Given the description of an element on the screen output the (x, y) to click on. 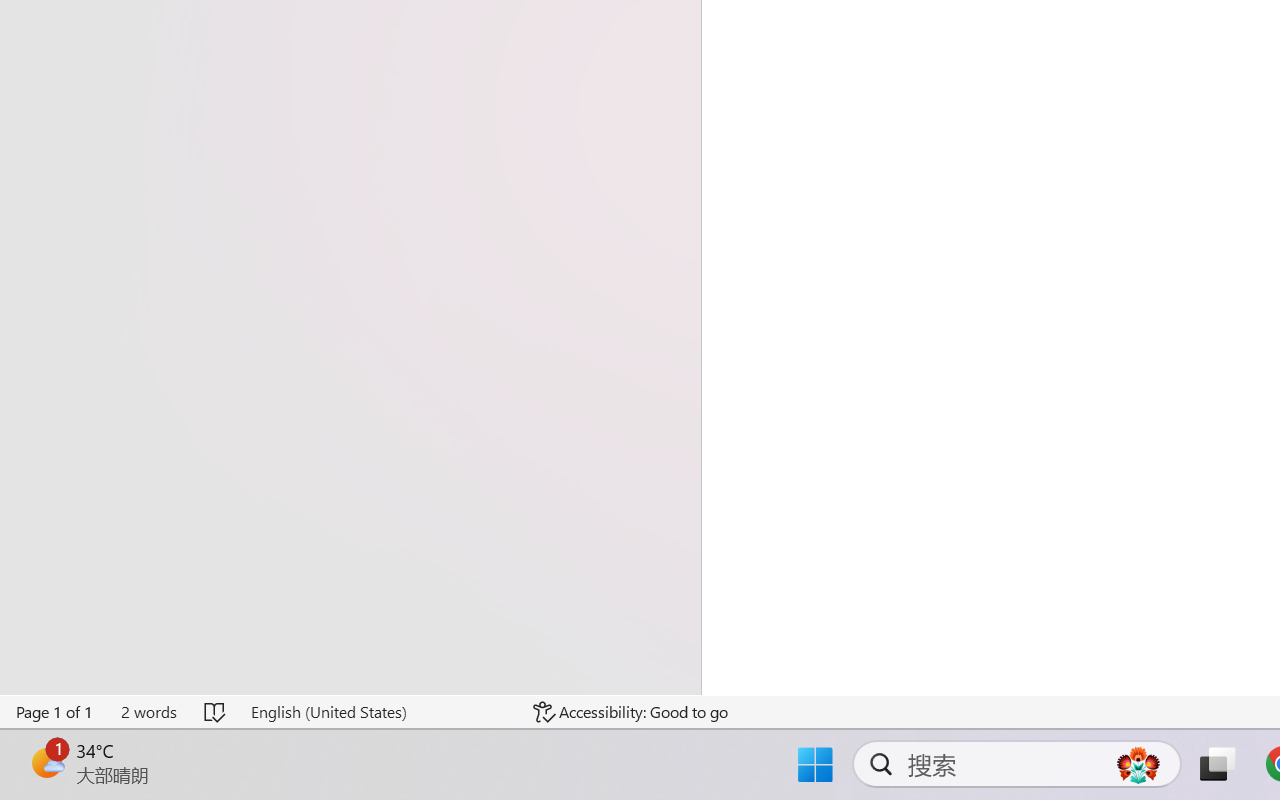
Page Number Page 1 of 1 (55, 712)
